Given the description of an element on the screen output the (x, y) to click on. 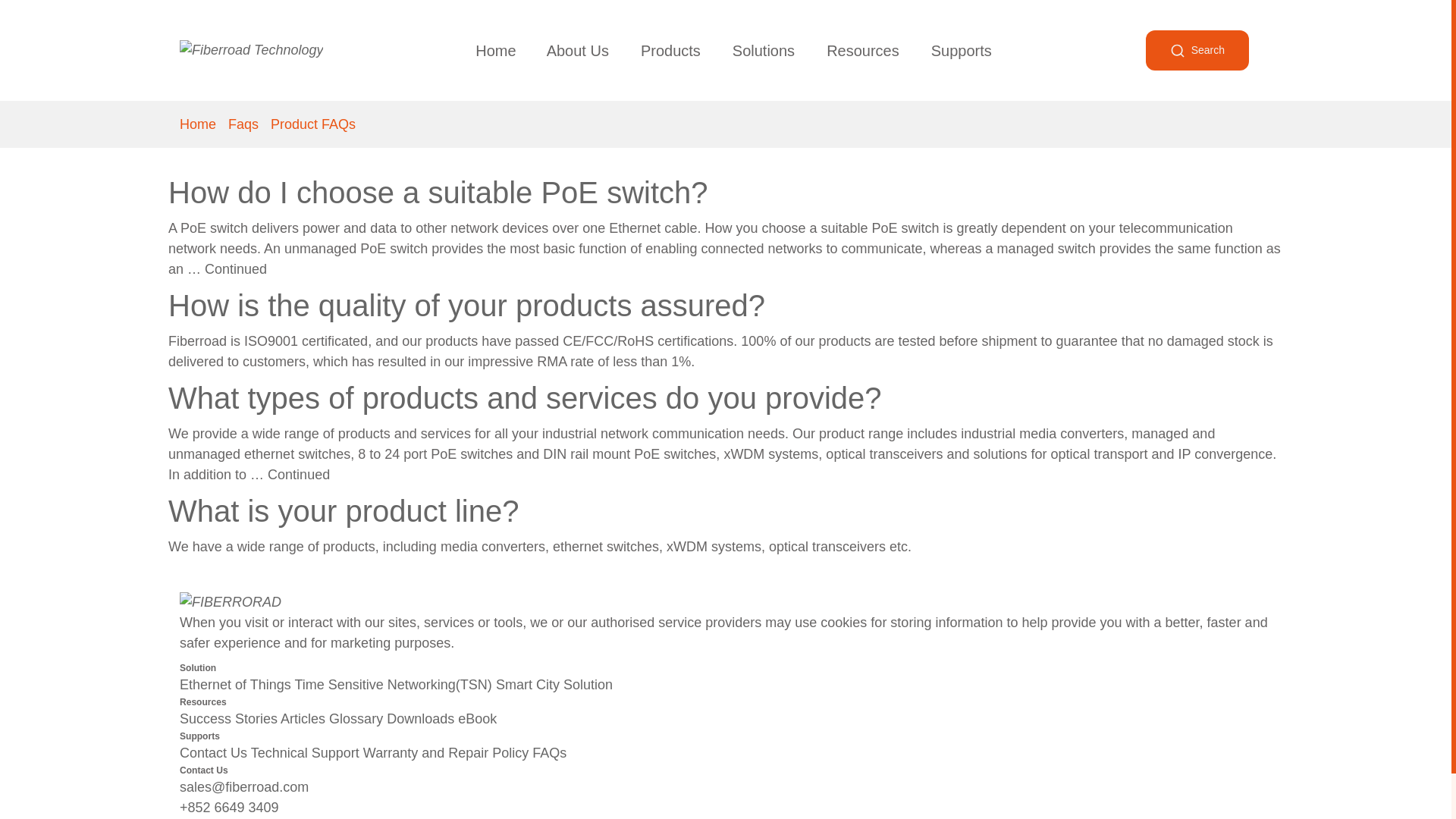
About Us (578, 50)
Home (495, 50)
Products (670, 50)
